Given the description of an element on the screen output the (x, y) to click on. 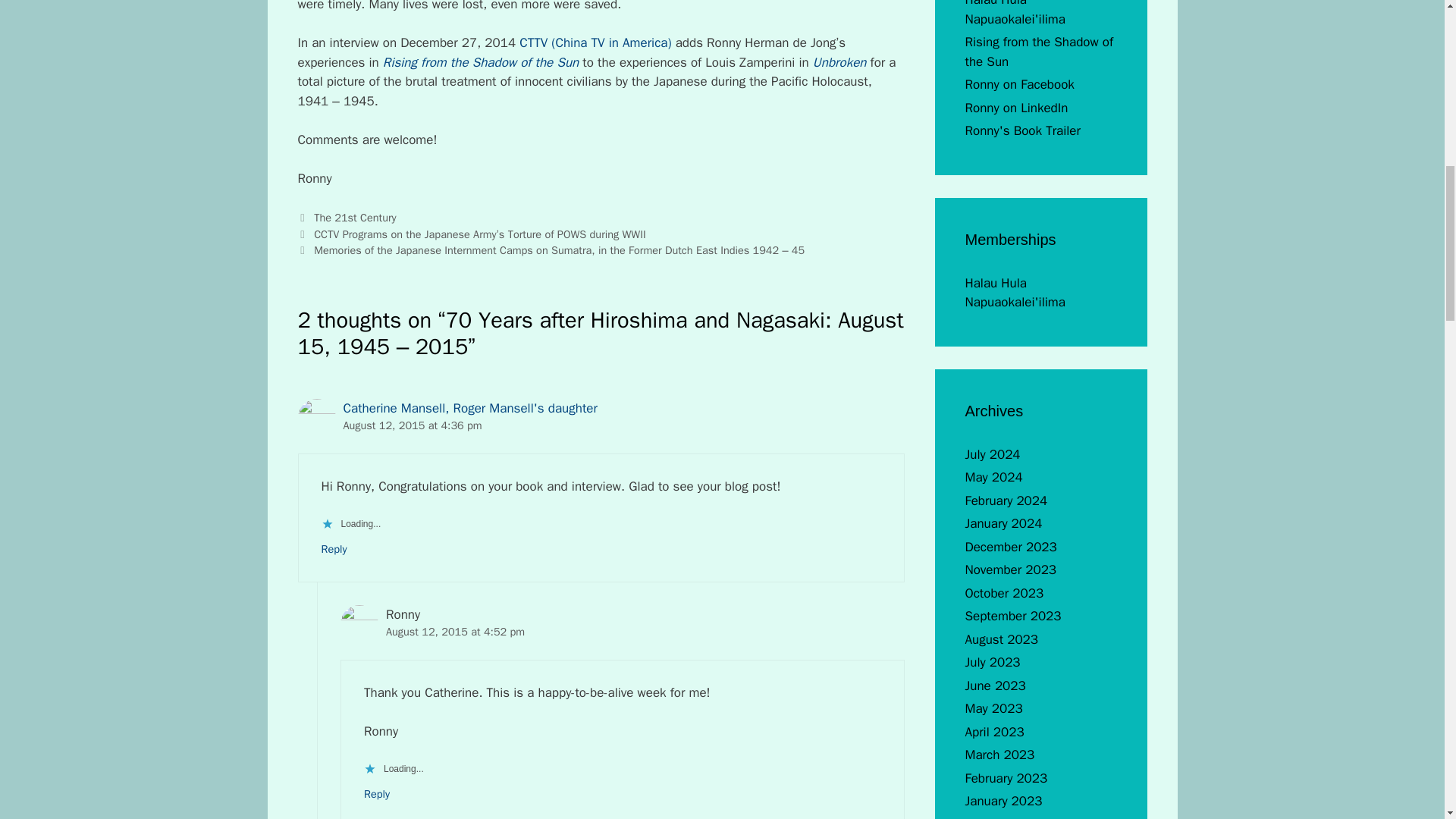
Unbroken (839, 62)
Reply (377, 793)
Rising from the Shadow of the Sun (482, 62)
The 21st Century (355, 217)
Catherine Mansell, Roger Mansell's daughter (469, 408)
August 12, 2015 at 4:52 pm (454, 631)
August 12, 2015 at 4:36 pm (411, 425)
Reply (334, 549)
